Given the description of an element on the screen output the (x, y) to click on. 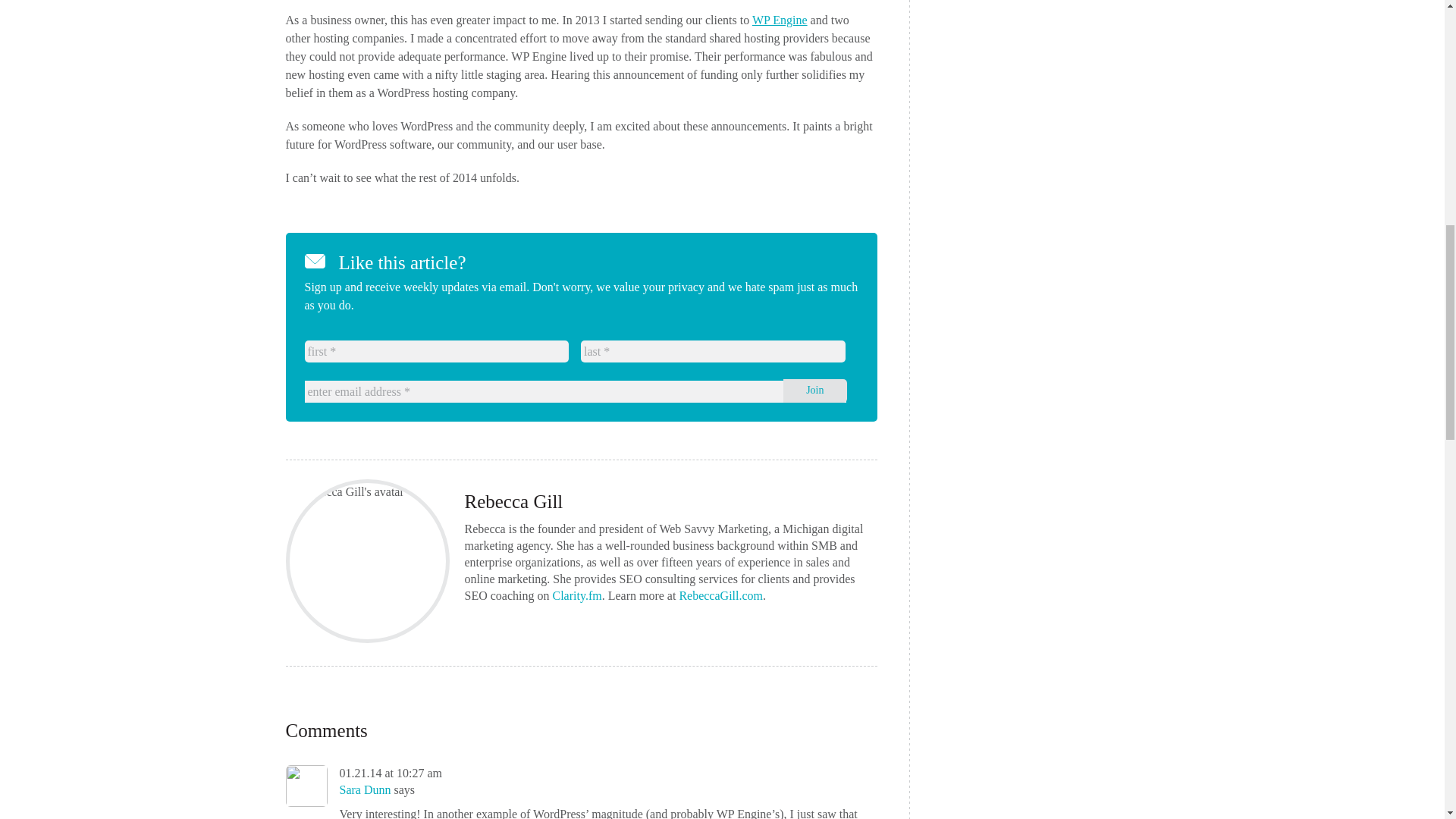
01.21.14 at 10:27 am (390, 772)
Join (814, 390)
Sara Dunn (365, 789)
Clarity.fm (576, 594)
Join (814, 390)
WP Engine (780, 19)
RebeccaGill.com (720, 594)
Clarity.fm (576, 594)
